Given the description of an element on the screen output the (x, y) to click on. 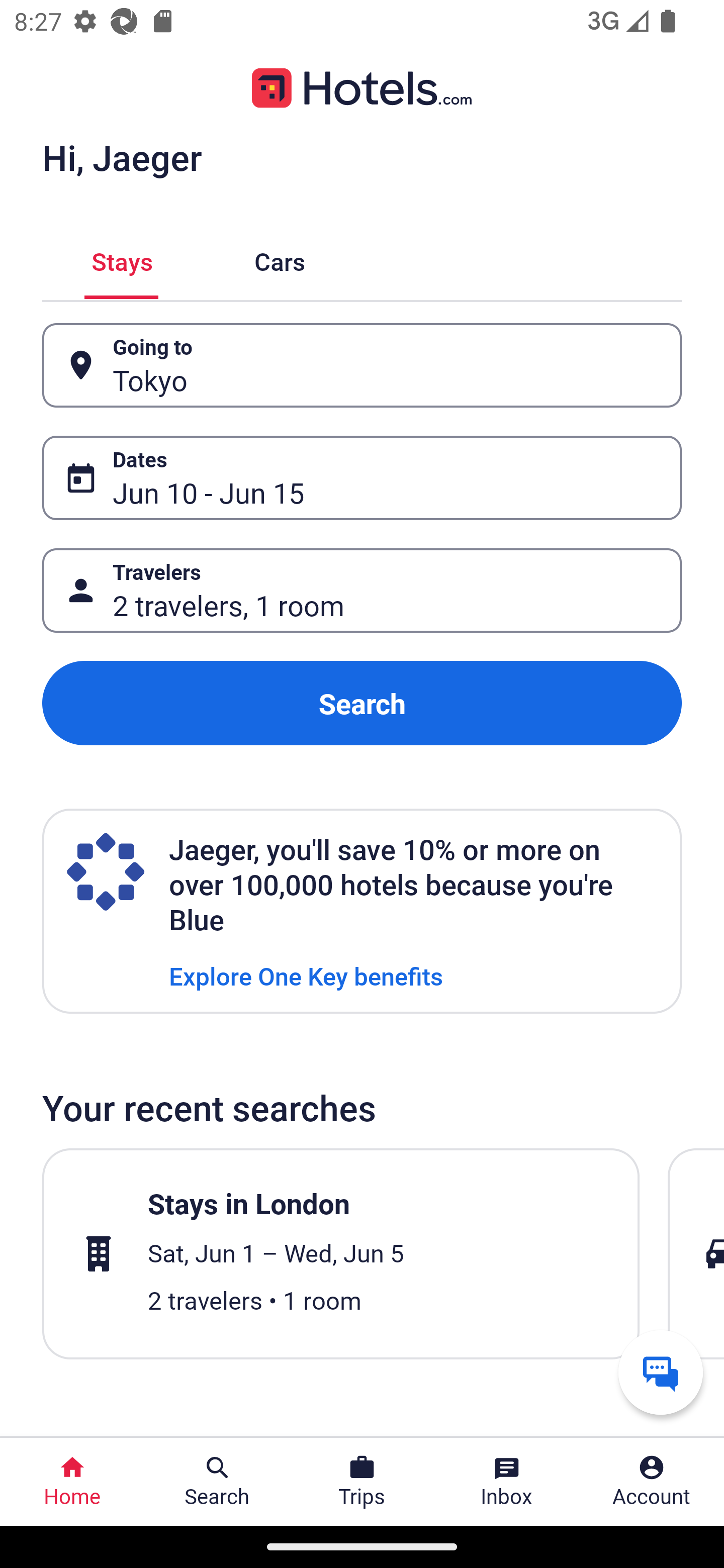
Hi, Jaeger (121, 156)
Cars (279, 259)
Going to Button Tokyo (361, 365)
Dates Button Jun 10 - Jun 15 (361, 477)
Travelers Button 2 travelers, 1 room (361, 590)
Search (361, 702)
Get help from a virtual agent (660, 1371)
Search Search Button (216, 1481)
Trips Trips Button (361, 1481)
Inbox Inbox Button (506, 1481)
Account Profile. Button (651, 1481)
